Given the description of an element on the screen output the (x, y) to click on. 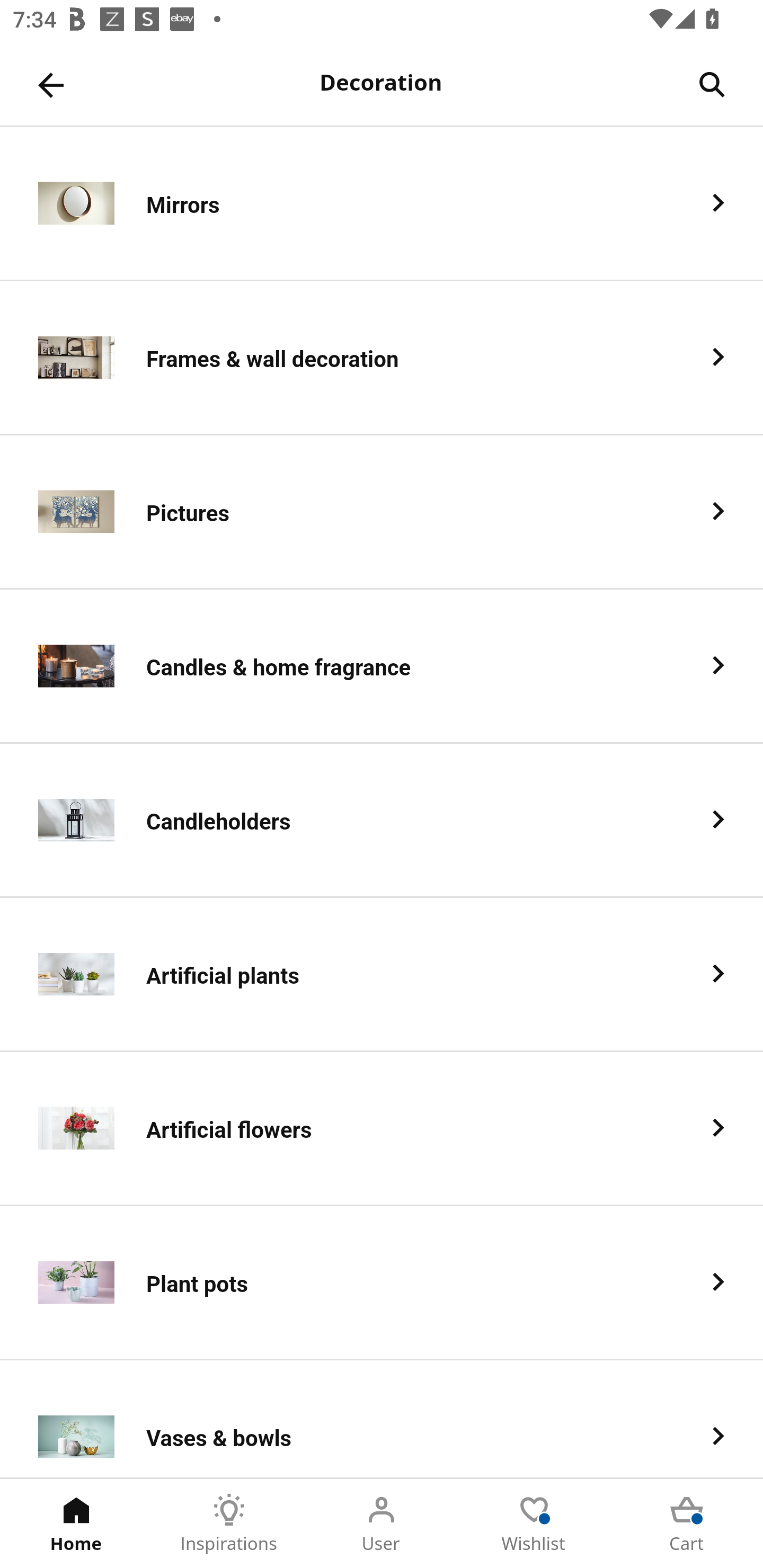
Mirrors (381, 203)
Frames & wall decoration (381, 357)
Pictures (381, 512)
Candles & home fragrance (381, 666)
Candleholders (381, 820)
Artificial plants (381, 975)
Artificial flowers (381, 1128)
Plant pots (381, 1283)
Vases & bowls (381, 1419)
Home
Tab 1 of 5 (76, 1522)
Inspirations
Tab 2 of 5 (228, 1522)
User
Tab 3 of 5 (381, 1522)
Wishlist
Tab 4 of 5 (533, 1522)
Cart
Tab 5 of 5 (686, 1522)
